Given the description of an element on the screen output the (x, y) to click on. 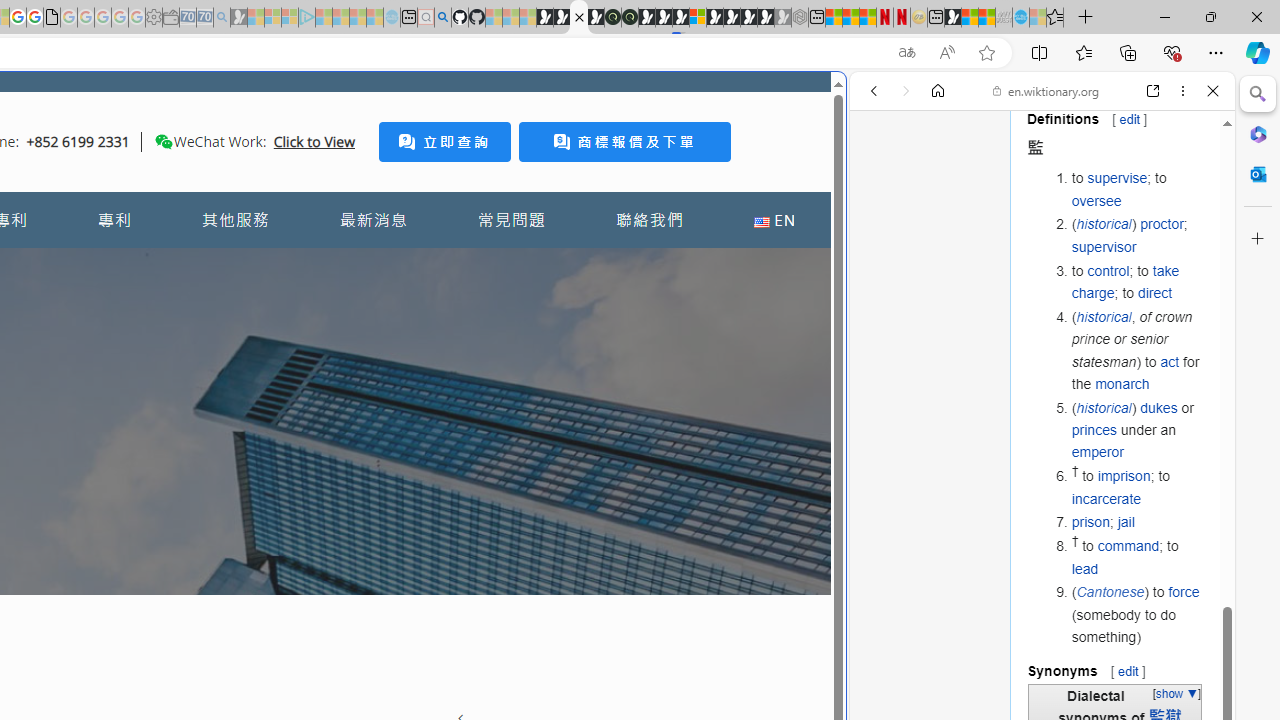
Web scope (882, 180)
Tabs you've opened (276, 265)
Global web icon (888, 669)
prison; jail (1137, 522)
(historical) proctor; supervisor (1137, 236)
princes (1094, 430)
